Given the description of an element on the screen output the (x, y) to click on. 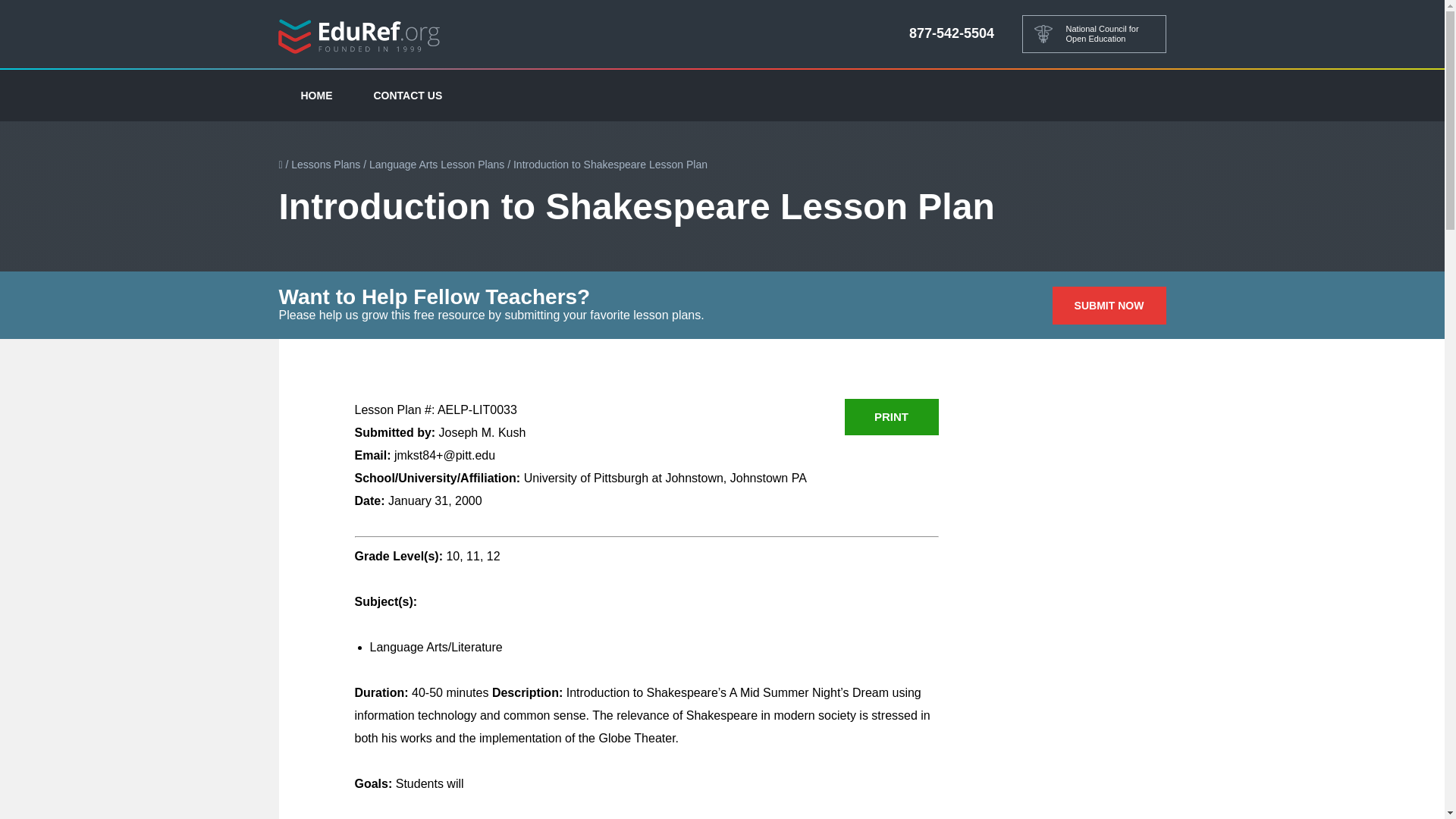
Educator's Reference Desk (359, 34)
HOME (317, 95)
PRINT (891, 416)
CONTACT US (408, 95)
Language Arts Lesson Plans (436, 164)
Introduction to Shakespeare Lesson Plan (610, 164)
877-542-5504 (951, 33)
SUBMIT NOW (1109, 305)
Lessons Plans (325, 164)
National Council for Open Education (1094, 34)
